Given the description of an element on the screen output the (x, y) to click on. 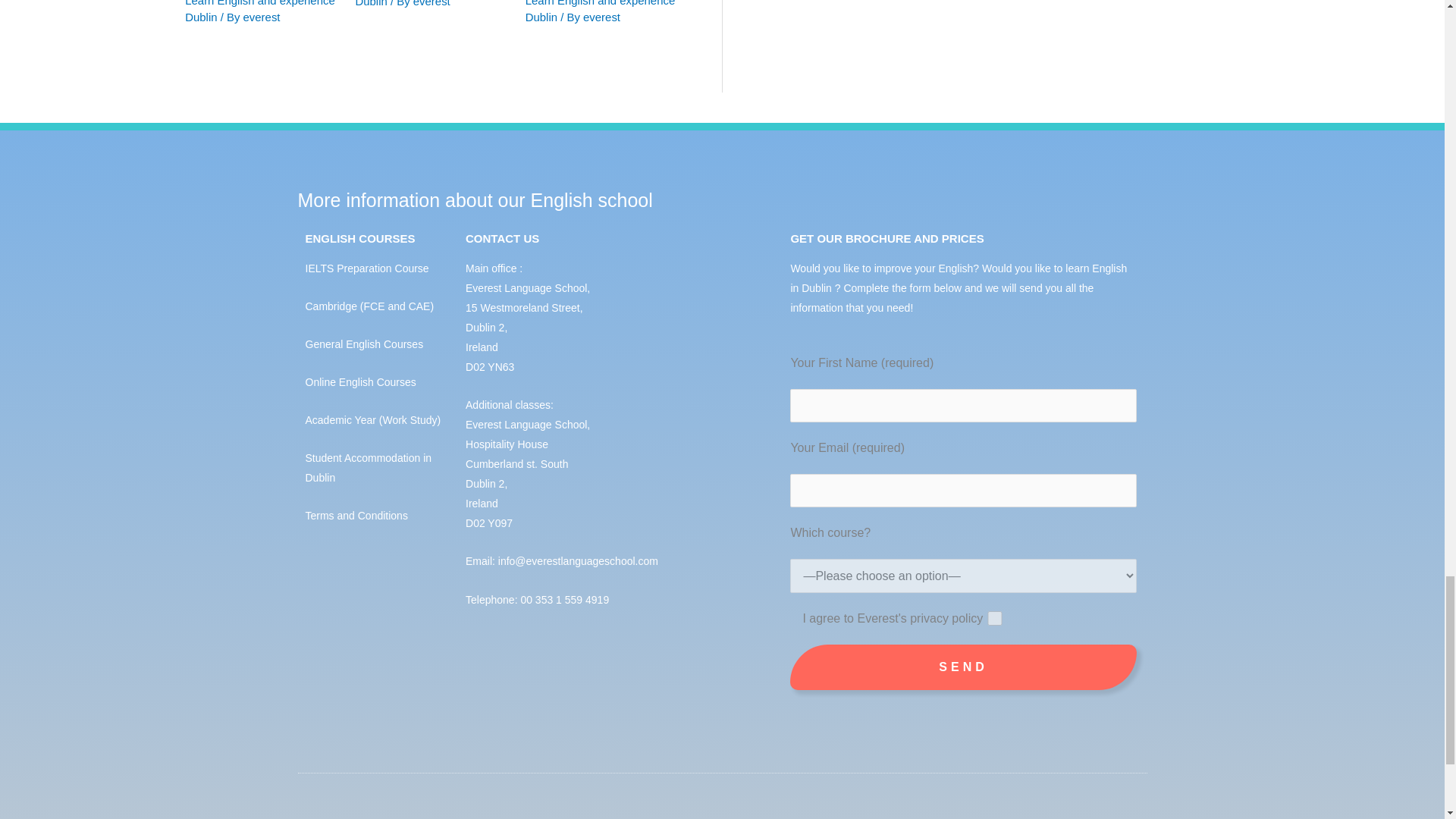
View all posts by everest (431, 3)
View all posts by everest (262, 16)
I agree to Everest's privacy policy (995, 617)
Send (962, 667)
View all posts by everest (601, 16)
